Given the description of an element on the screen output the (x, y) to click on. 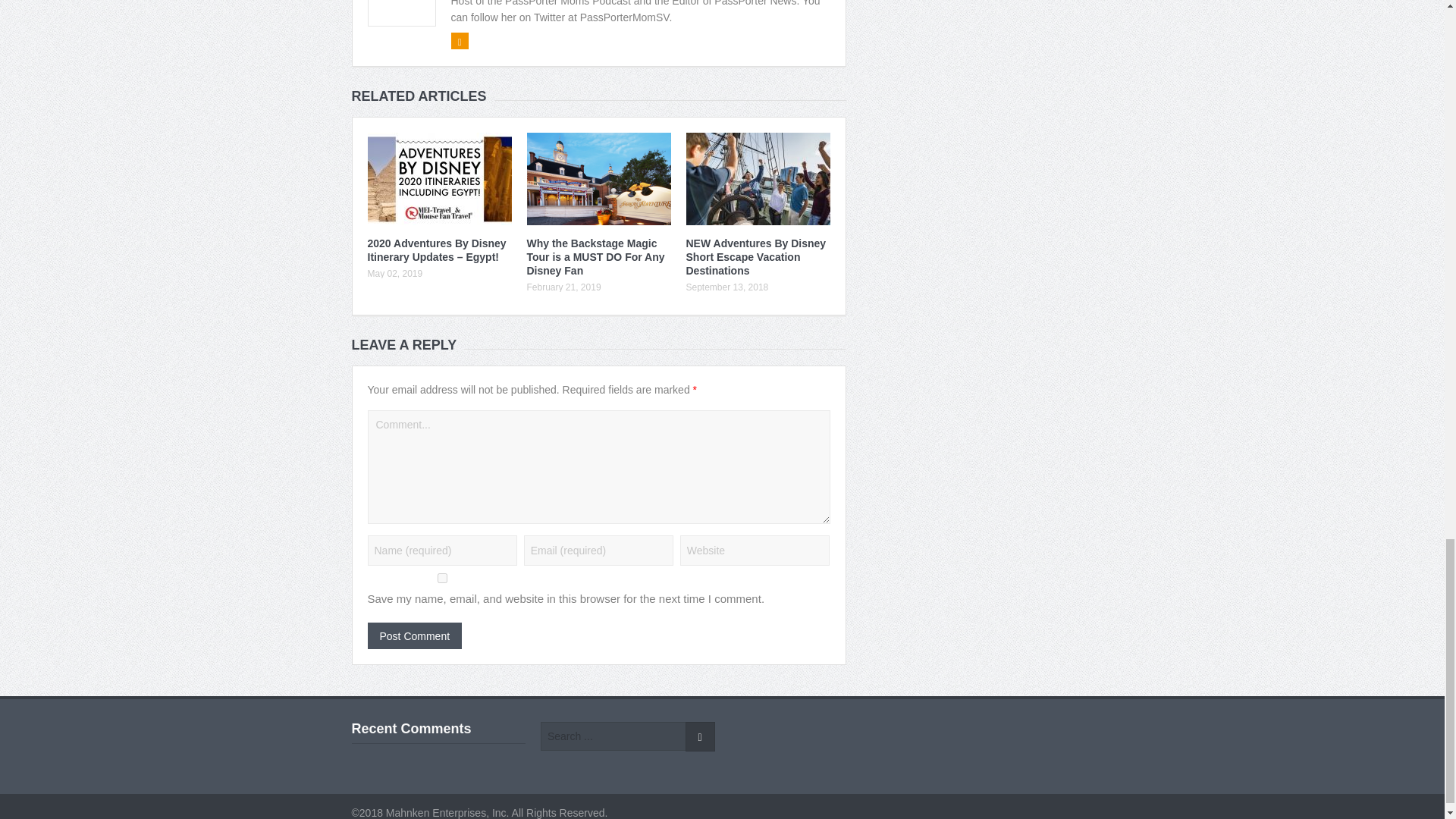
yes (441, 578)
Why the Backstage Magic Tour is a MUST DO For Any Disney Fan (594, 256)
Post Comment (413, 635)
